Given the description of an element on the screen output the (x, y) to click on. 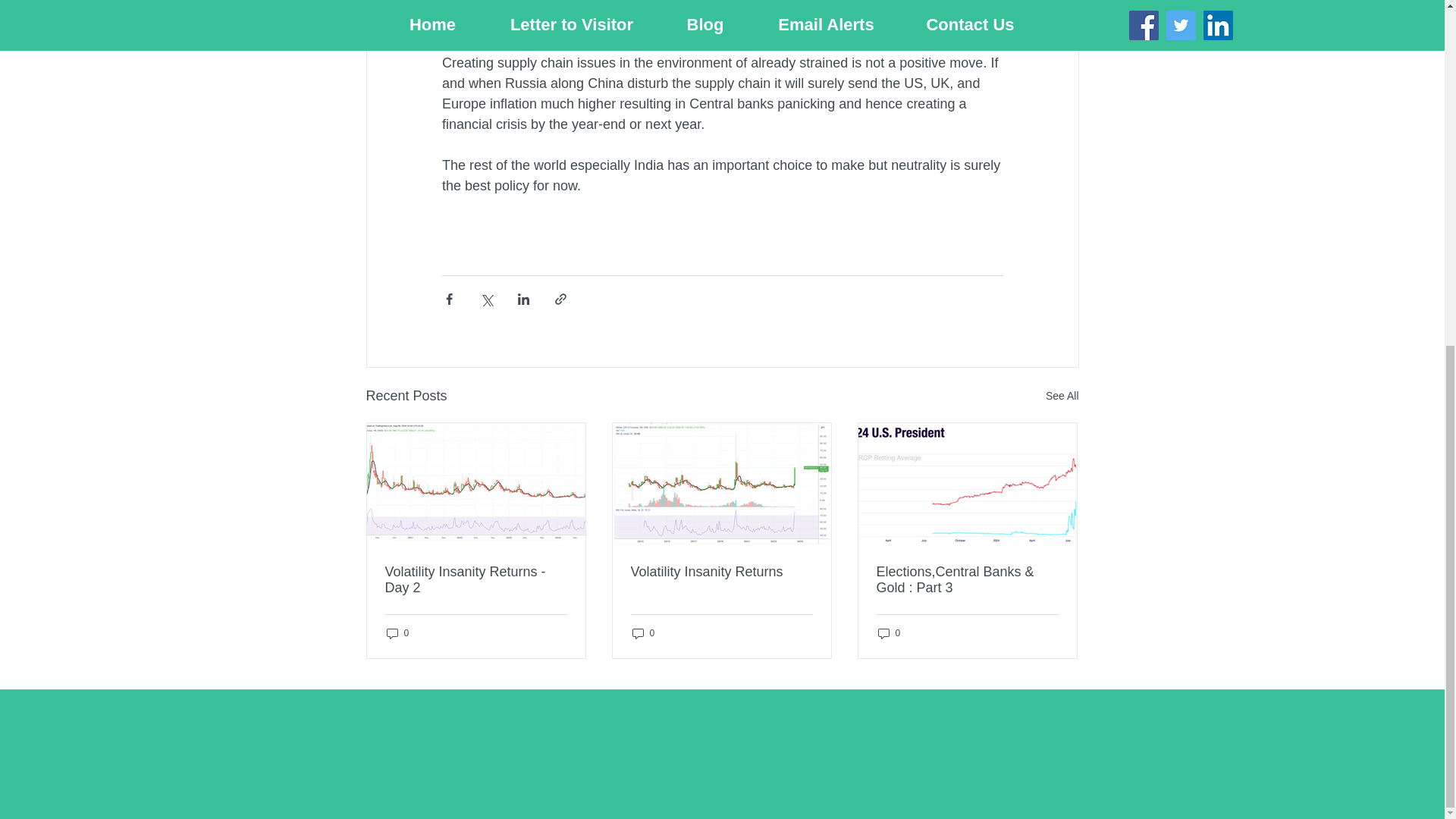
Volatility Insanity Returns (721, 571)
0 (397, 633)
0 (643, 633)
0 (889, 633)
See All (1061, 395)
Volatility Insanity Returns - Day 2 (476, 580)
